Given the description of an element on the screen output the (x, y) to click on. 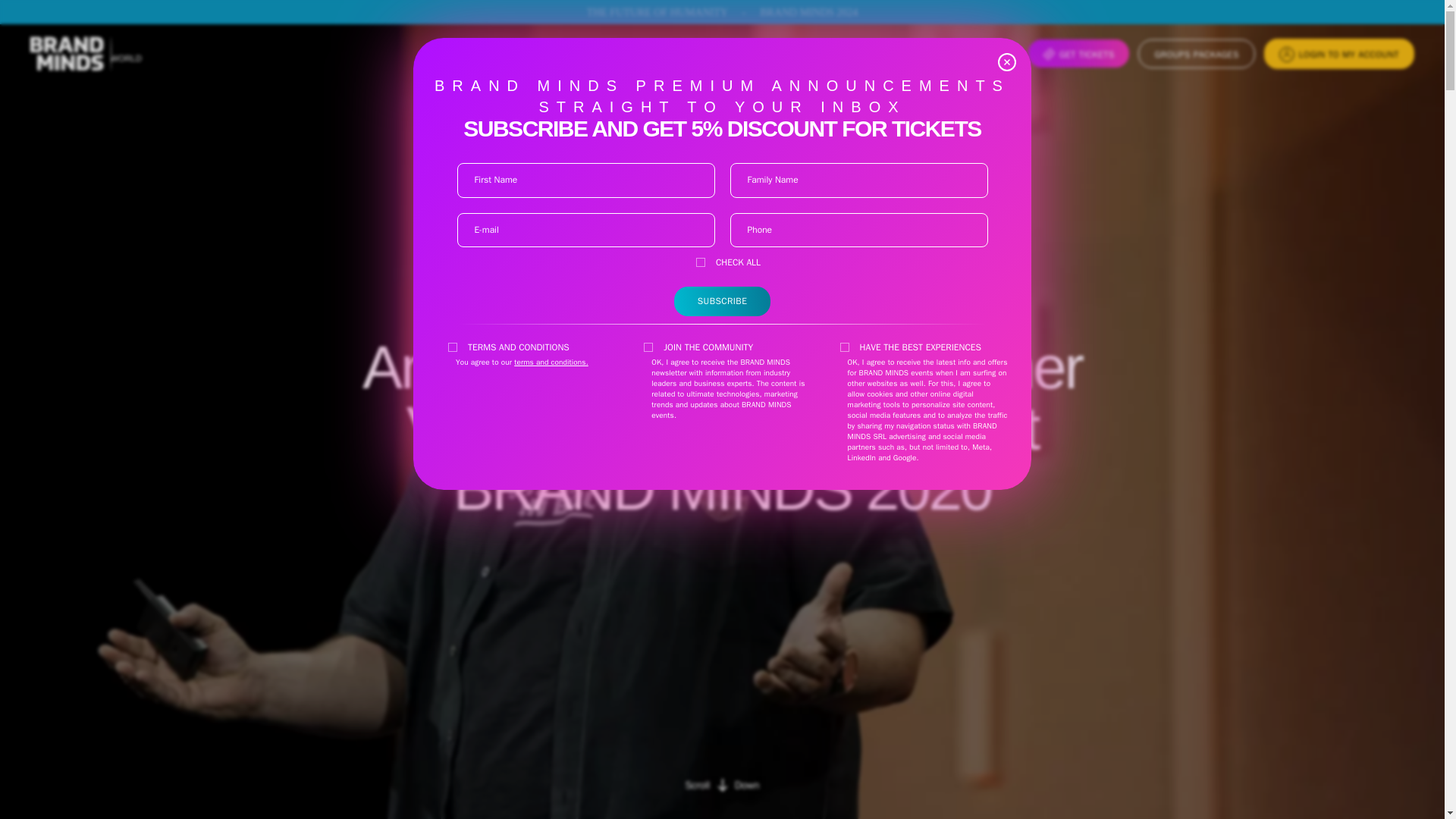
THE FUTURE OF HUMANITY (657, 12)
BUSINESS WORLD (122, 53)
LOGIN TO MY ACCOUNT (1338, 53)
BRAND MINDS 2024 (808, 12)
PARTNERS (973, 54)
ABOUT US (722, 785)
GROUPS PACKAGES (903, 54)
GET TICKETS (1195, 53)
